Given the description of an element on the screen output the (x, y) to click on. 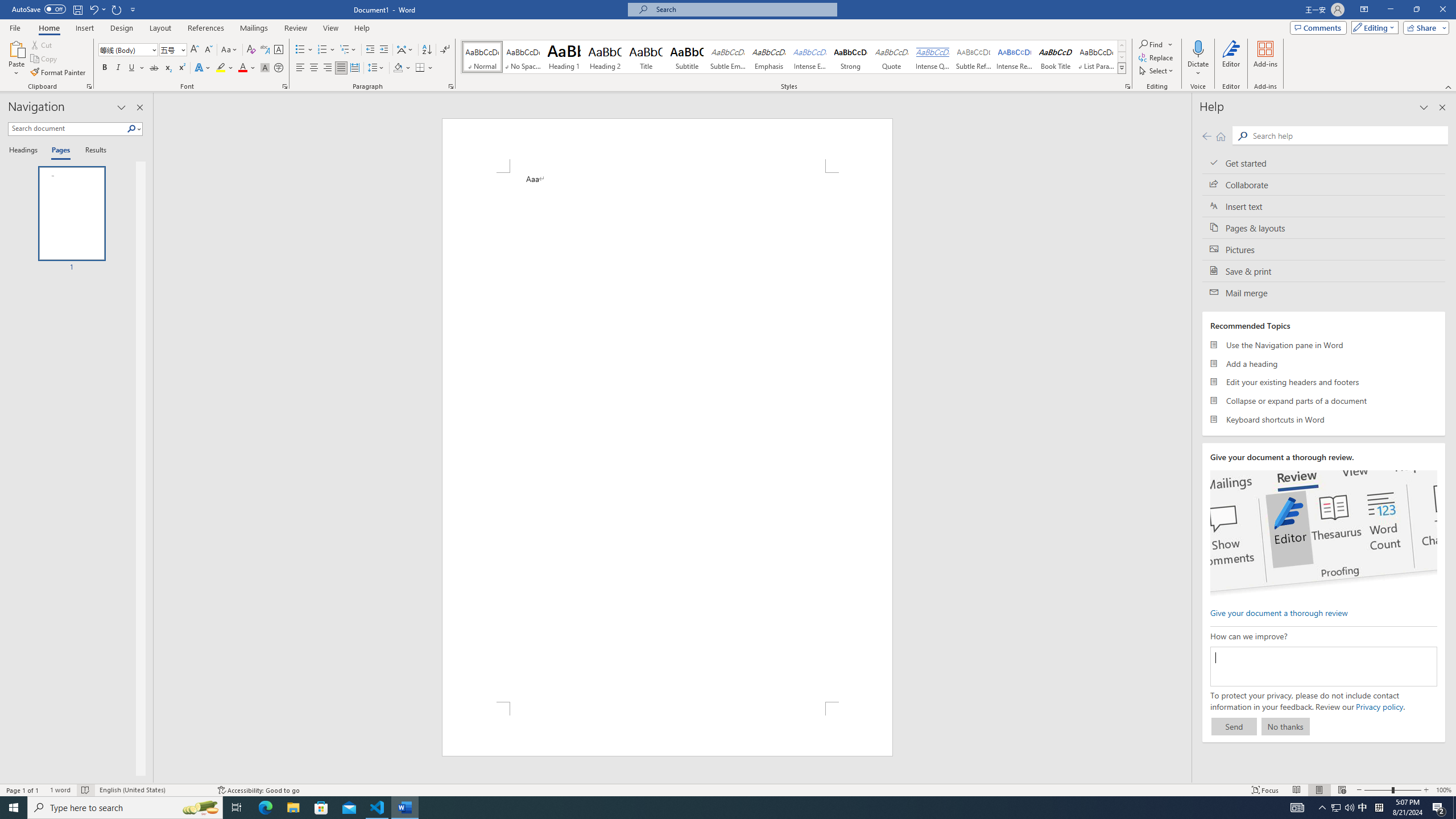
Design (122, 28)
Collapse the Ribbon (1448, 86)
Zoom In (1426, 790)
Font Color Red (241, 67)
Pictures (1323, 249)
Numbering (322, 49)
Collapse or expand parts of a document (1323, 400)
Dictate (1197, 58)
Dictate (1197, 48)
Send (1233, 726)
Open (182, 49)
Heading 2 (605, 56)
Sort... (426, 49)
Editor (1231, 58)
Underline (131, 67)
